Given the description of an element on the screen output the (x, y) to click on. 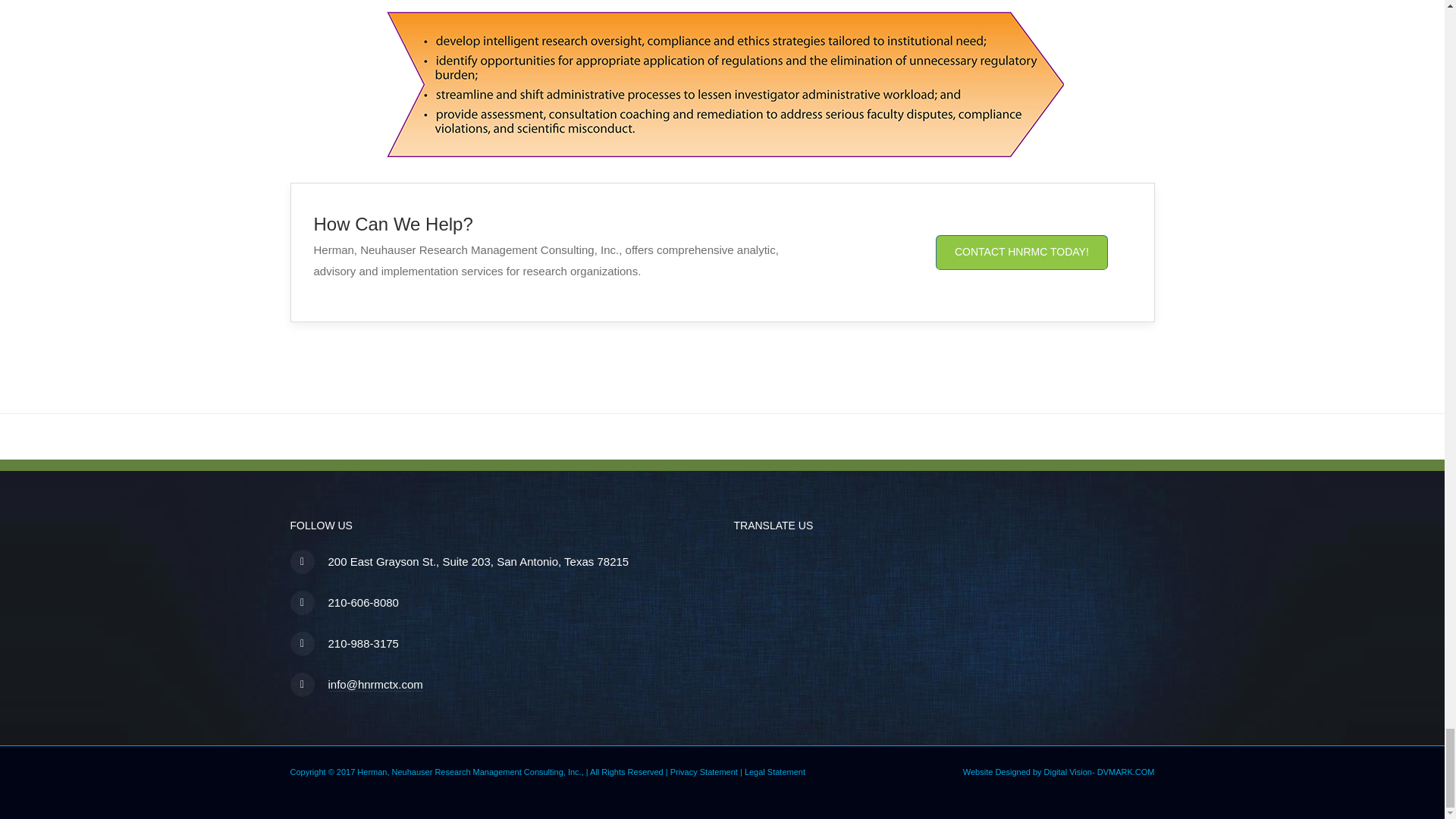
CONTACT HNRMC TODAY! (1022, 252)
Privacy Statement (703, 771)
Legal Statement (774, 771)
